Given the description of an element on the screen output the (x, y) to click on. 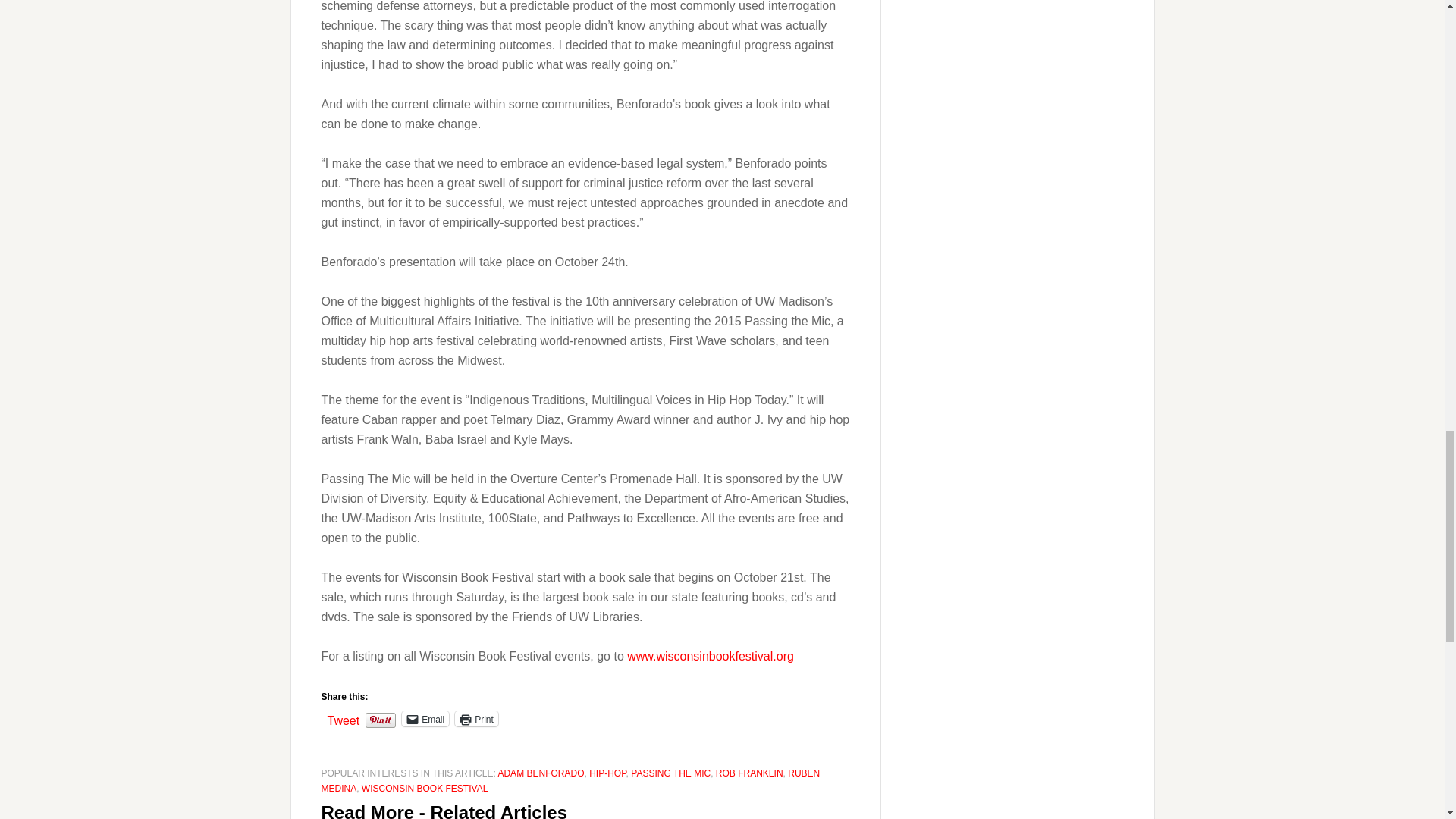
ROB FRANKLIN (749, 773)
Email (424, 718)
RUBEN MEDINA (571, 780)
ADAM BENFORADO (540, 773)
Print (475, 718)
Click to email a link to a friend (424, 718)
Tweet (343, 717)
PASSING THE MIC (670, 773)
HIP-HOP (607, 773)
www.wisconsinbookfestival.org (710, 656)
